Given the description of an element on the screen output the (x, y) to click on. 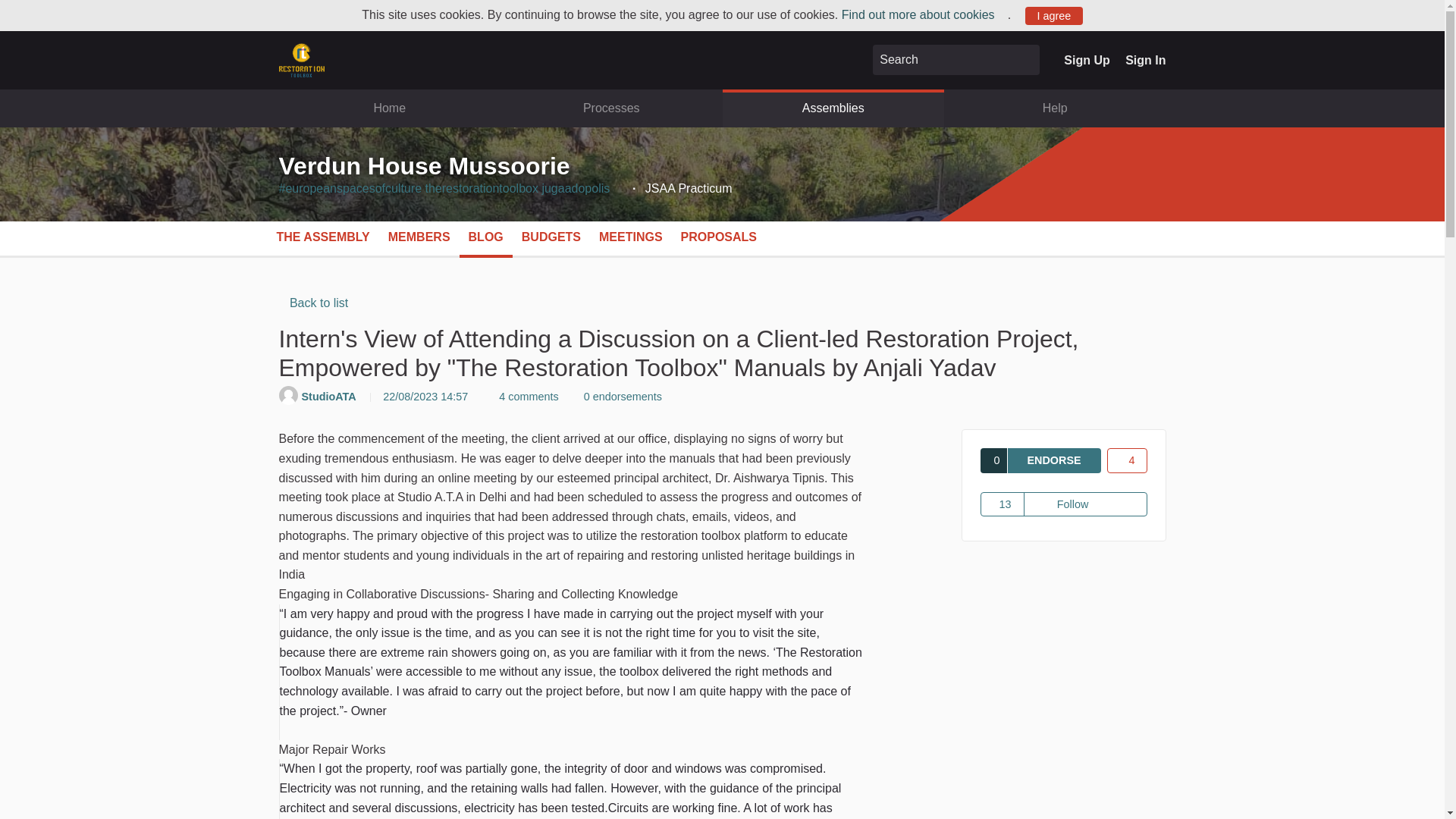
comments (524, 396)
Search (1025, 60)
I agree (1054, 15)
Find out more about cookies (924, 14)
Processes (611, 108)
StudioATA (330, 396)
MEMBERS (418, 237)
Back to list (314, 302)
4 (1126, 459)
Sign Up (1086, 60)
BLOG (485, 237)
Home (389, 108)
0 endorsements (619, 396)
